Given the description of an element on the screen output the (x, y) to click on. 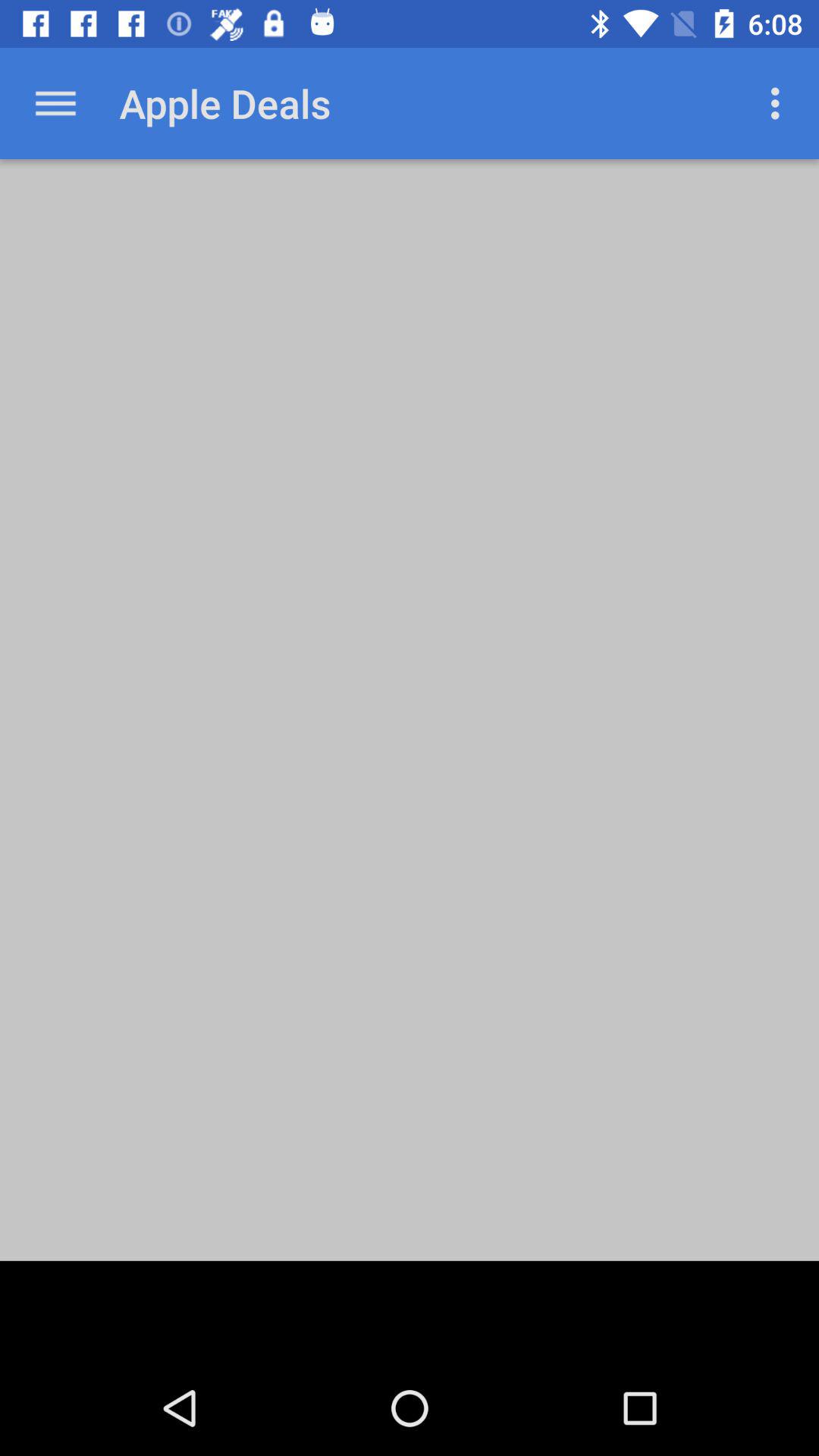
press app to the right of the apple deals (779, 103)
